Given the description of an element on the screen output the (x, y) to click on. 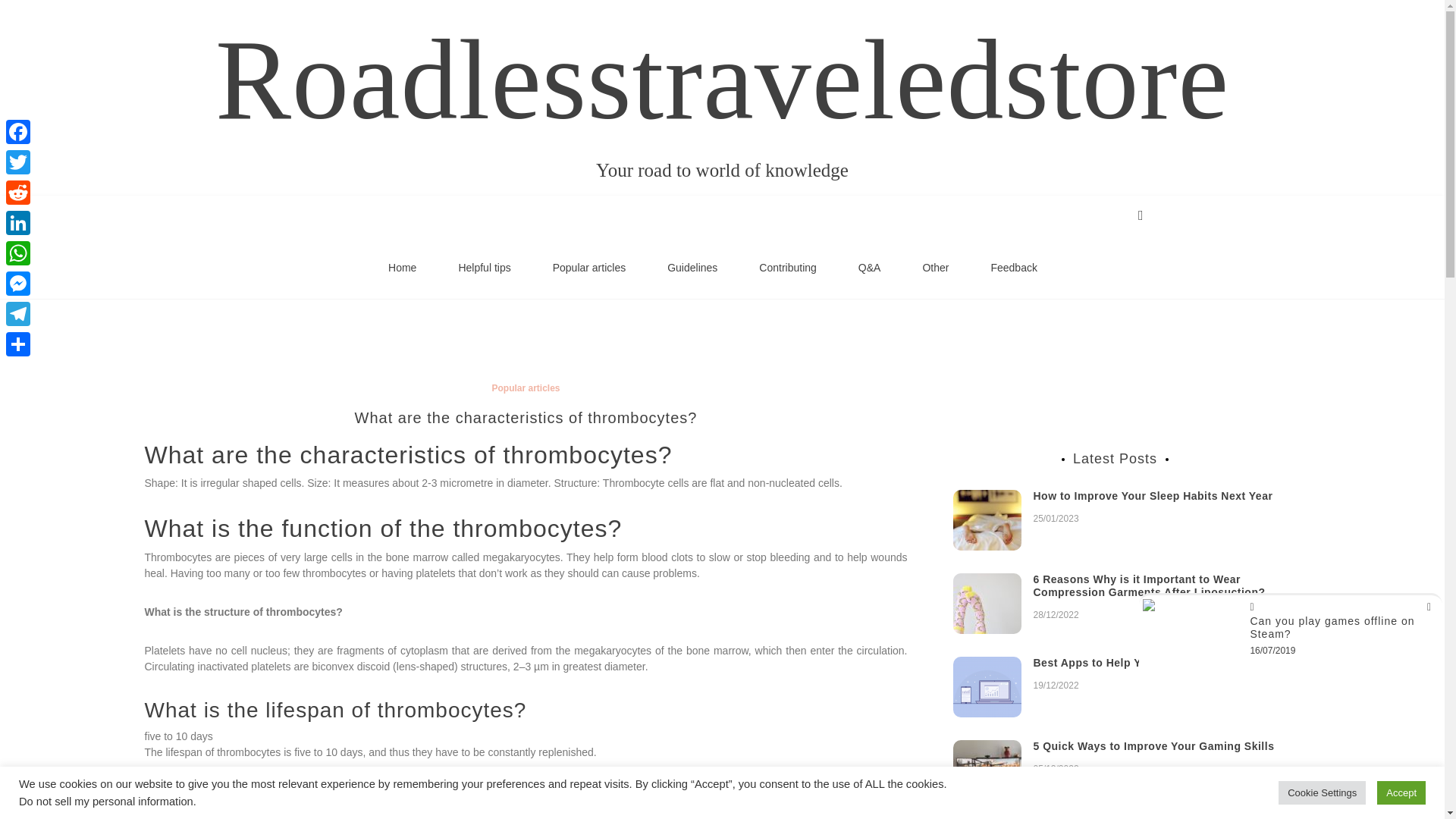
Feedback (1013, 267)
Feedback (1013, 267)
Contributing (788, 267)
Contributing (788, 267)
Guidelines (692, 267)
Popular articles (525, 388)
Best Apps to Help You Manage Your Money (1148, 662)
How to Improve Your Sleep Habits Next Year (1152, 495)
5 Quick Ways to Improve Your Gaming Skills (1153, 746)
Popular articles (589, 267)
Helpful tips (483, 267)
Helpful tips (483, 267)
Guidelines (692, 267)
